Given the description of an element on the screen output the (x, y) to click on. 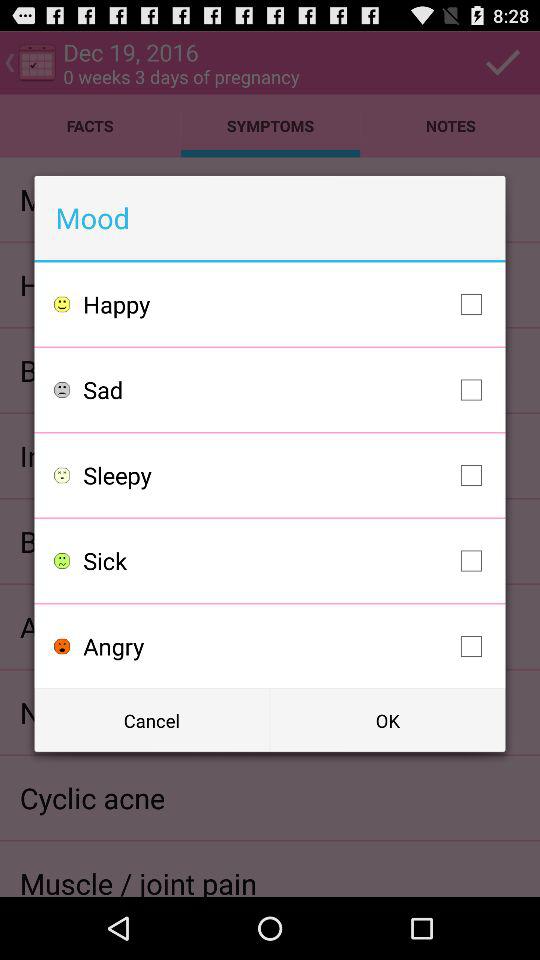
scroll until happy checkbox (287, 304)
